Given the description of an element on the screen output the (x, y) to click on. 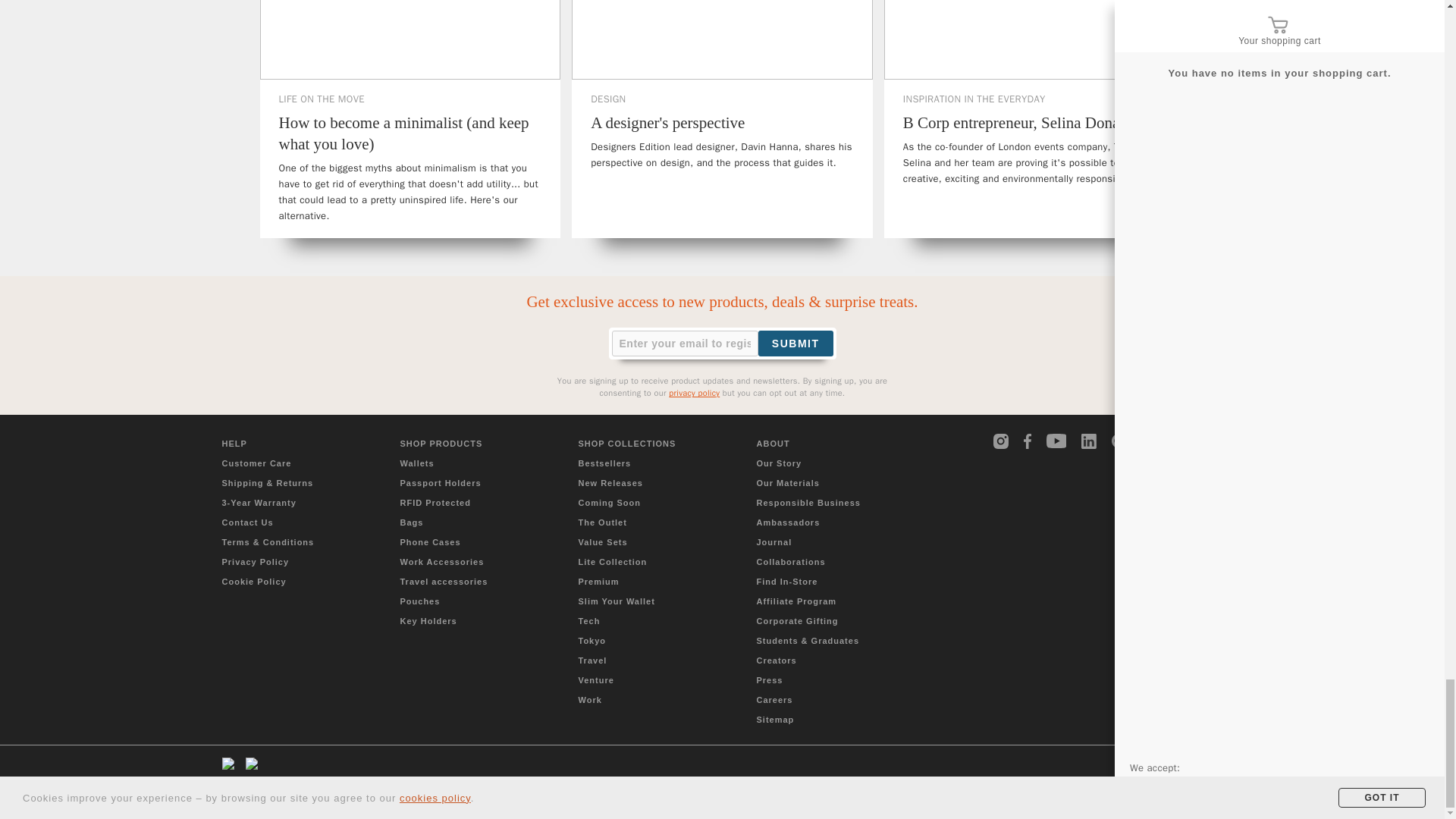
Pinterest (1119, 441)
Facebook (1031, 441)
LinkedIn (1088, 441)
TikTok (1149, 441)
Instagram (1000, 441)
YouTube (1056, 440)
